Given the description of an element on the screen output the (x, y) to click on. 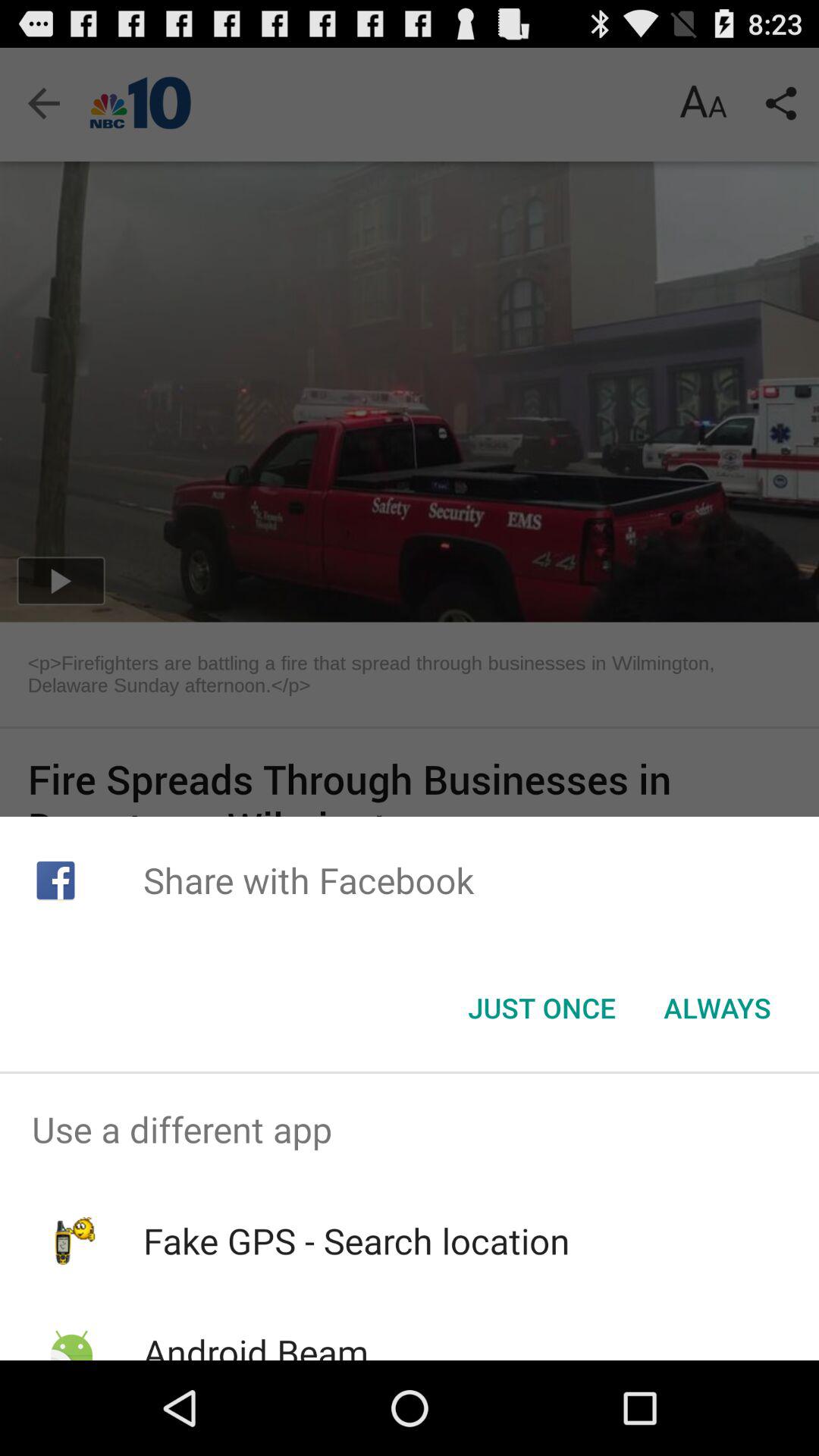
select button next to just once (717, 1007)
